Given the description of an element on the screen output the (x, y) to click on. 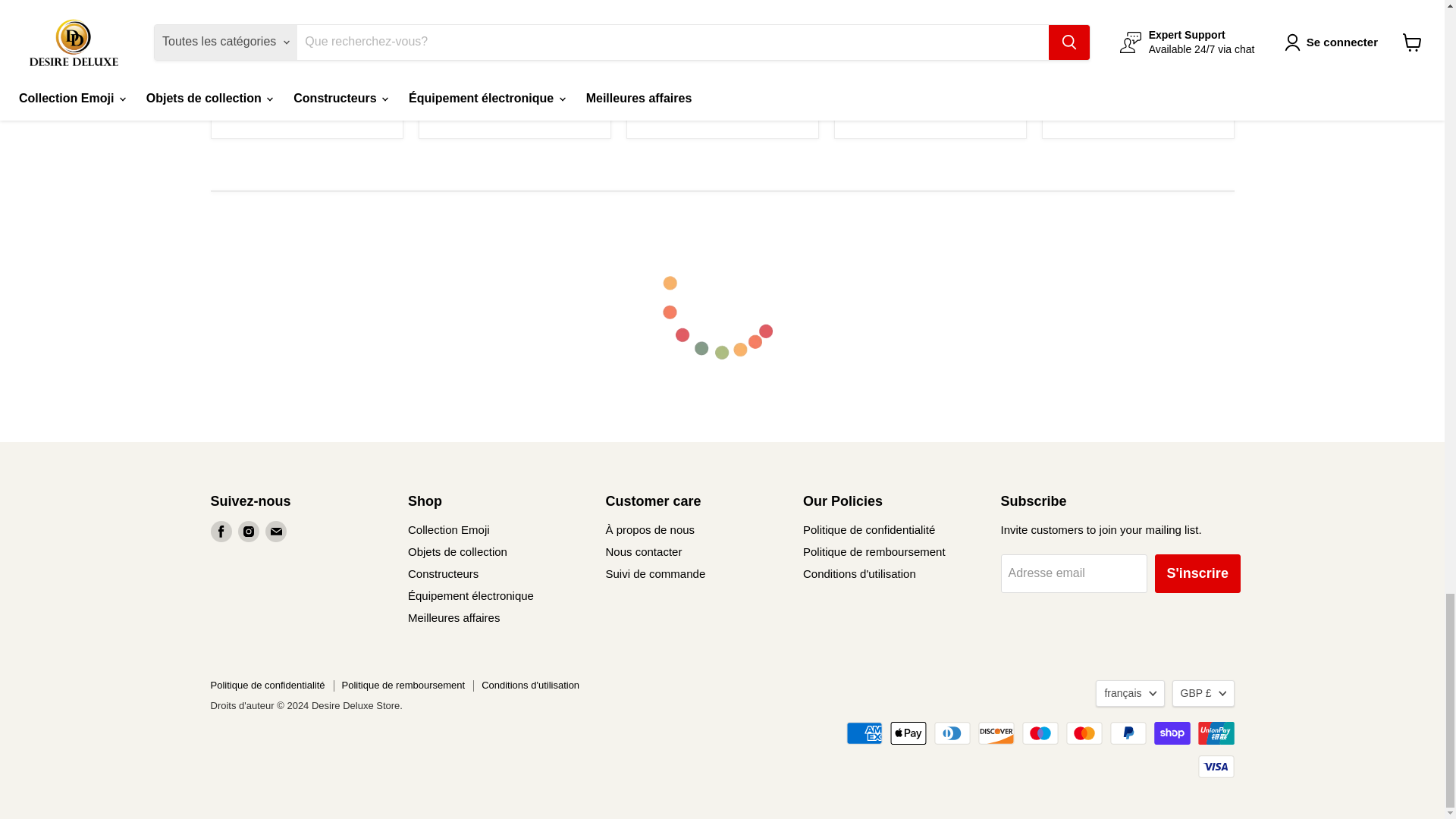
Email (275, 531)
Instagram (248, 531)
Facebook (221, 531)
